Given the description of an element on the screen output the (x, y) to click on. 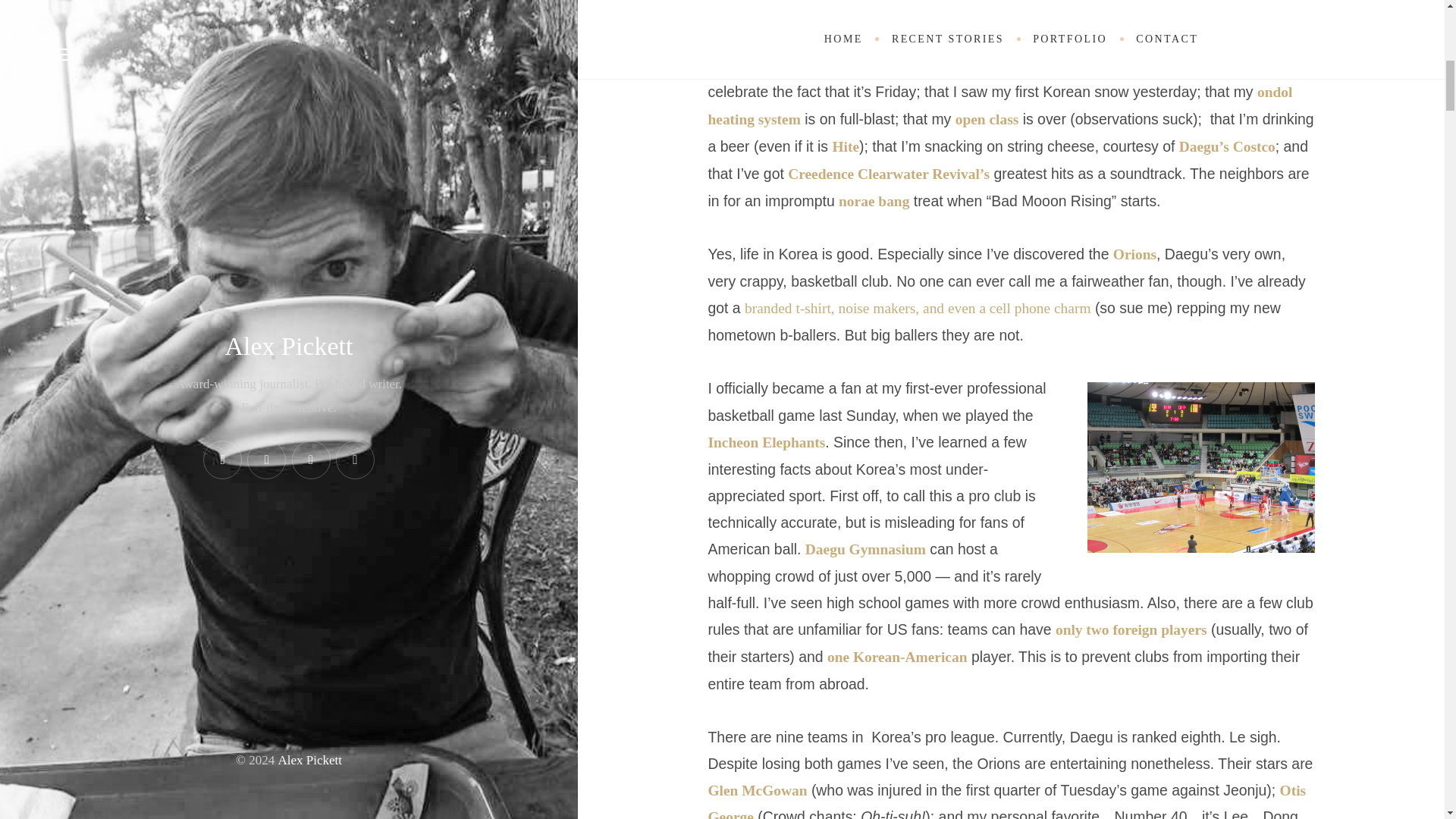
only two foreign players (1131, 629)
open class (987, 119)
Orions (1134, 254)
Daegu Orion's No. 1 fan! (1011, 11)
Incheon Elephants (766, 442)
Daegu Orions (1200, 467)
ondol heating system (999, 105)
branded t-shirt, noise makers, and even a cell phone charm (917, 308)
Daegu Gymnasium (865, 549)
one Korean-American (897, 657)
norae bang (873, 200)
Hite (845, 146)
